Given the description of an element on the screen output the (x, y) to click on. 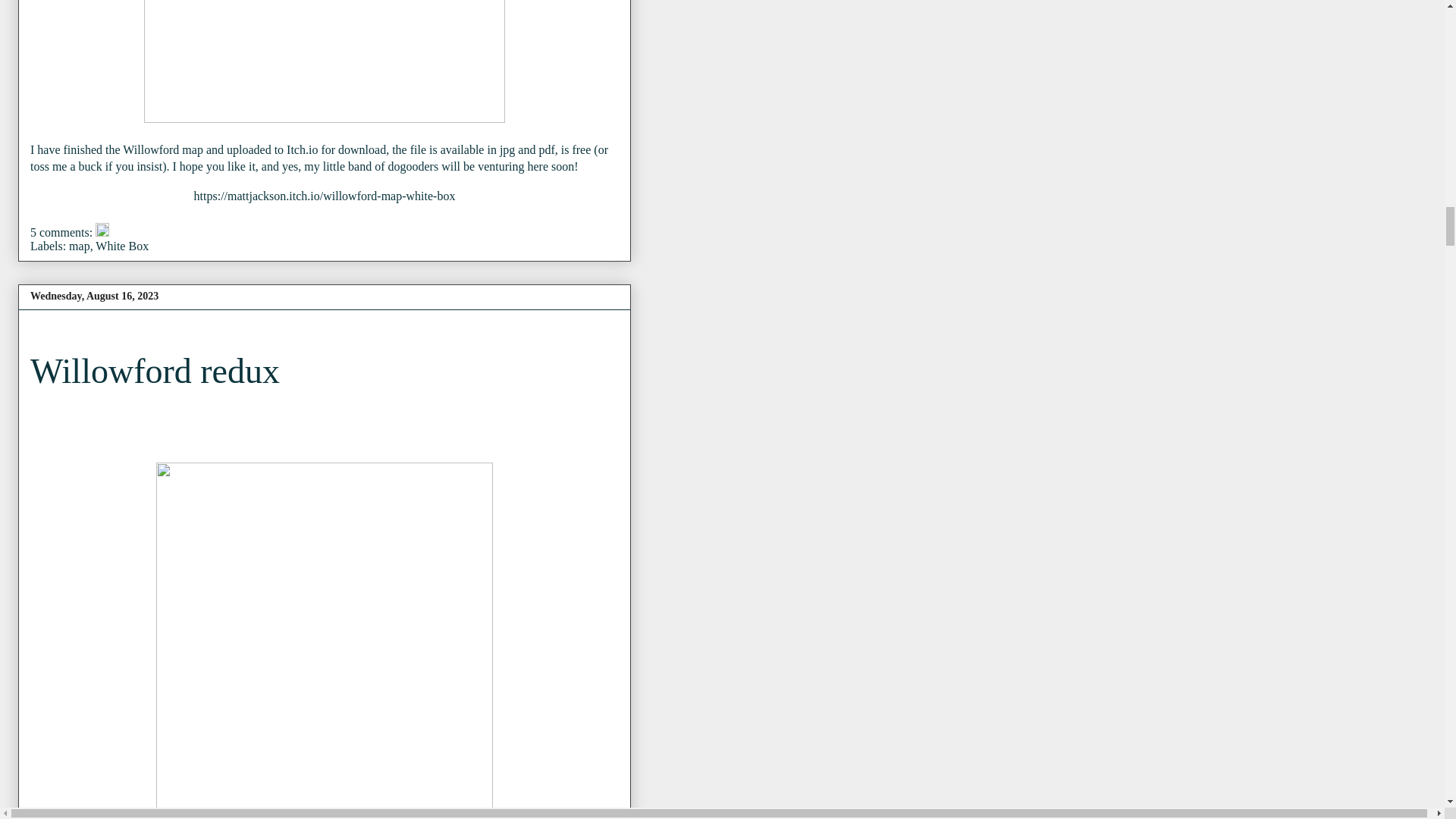
map (79, 245)
Edit Post (102, 232)
Willowford redux (154, 371)
5 comments: (63, 232)
White Box (122, 245)
